Given the description of an element on the screen output the (x, y) to click on. 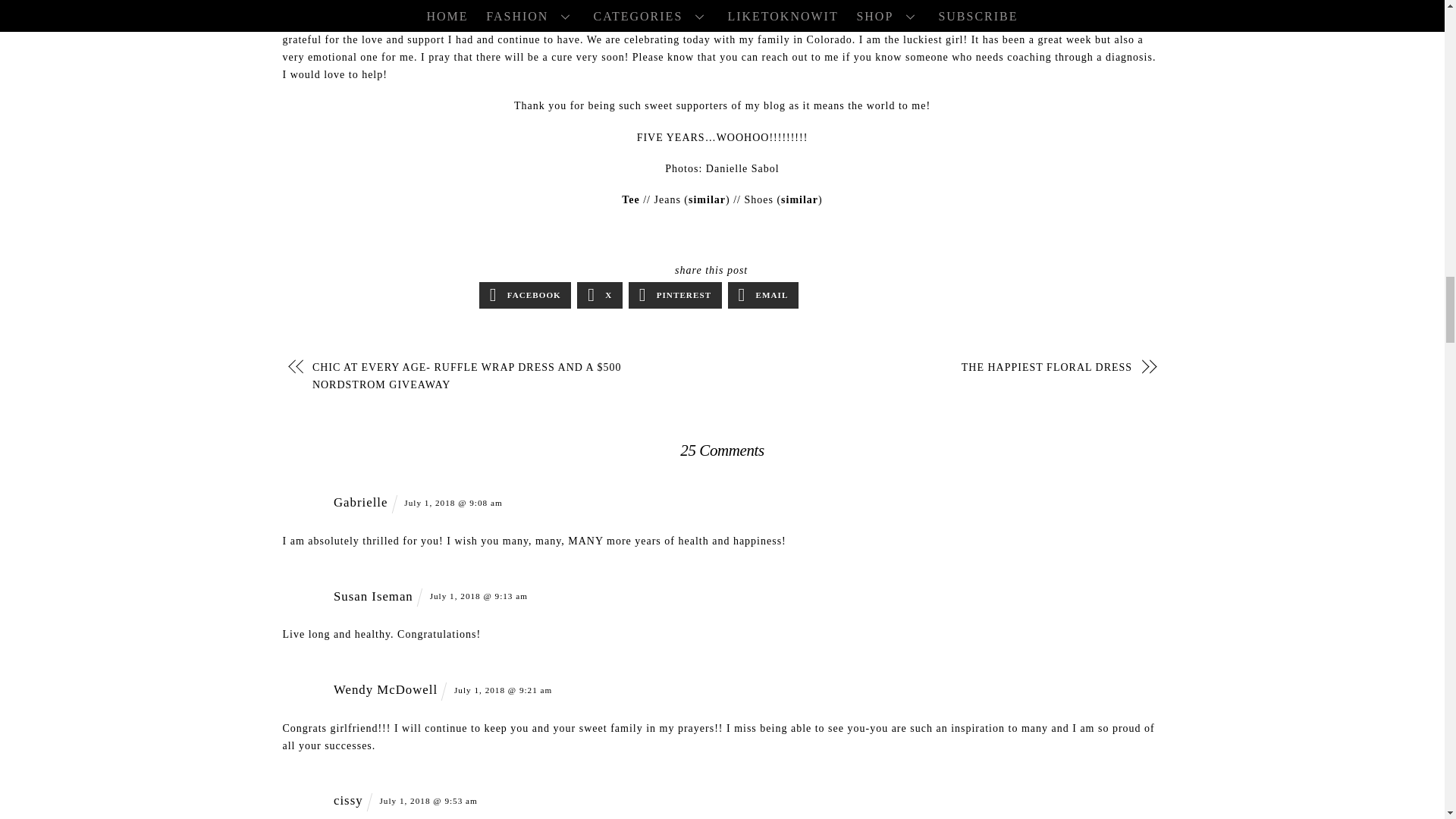
Tee (630, 199)
Share this article on Facebook (525, 294)
similar (799, 199)
Share this article on X (598, 294)
EMAIL (762, 294)
PINTEREST (675, 294)
THE HAPPIEST FLORAL DRESS (940, 366)
similar (706, 199)
Share an image of this article on Pinterest (675, 294)
X (598, 294)
